Given the description of an element on the screen output the (x, y) to click on. 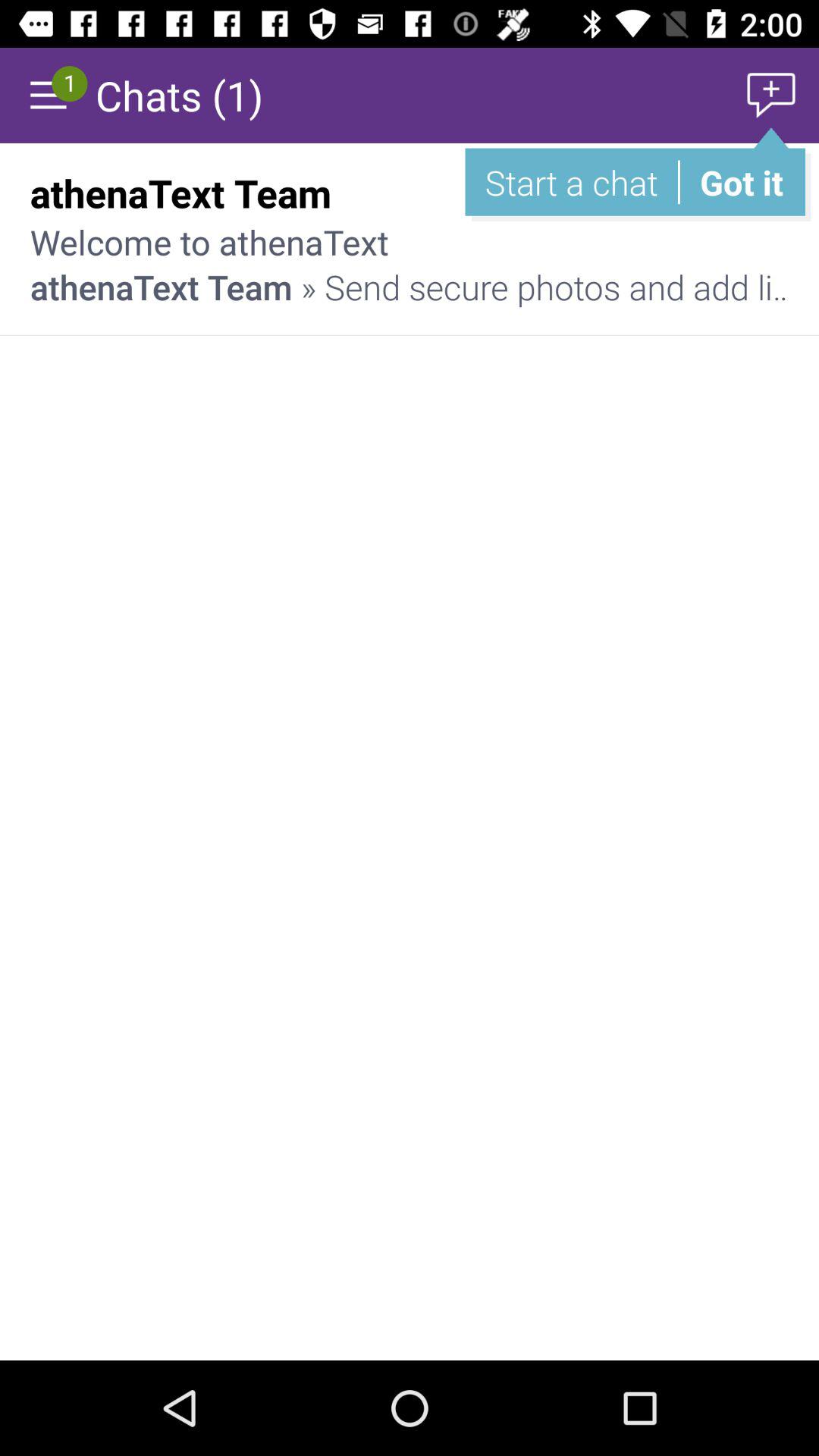
open the icon next to the athenatext team item (735, 192)
